Given the description of an element on the screen output the (x, y) to click on. 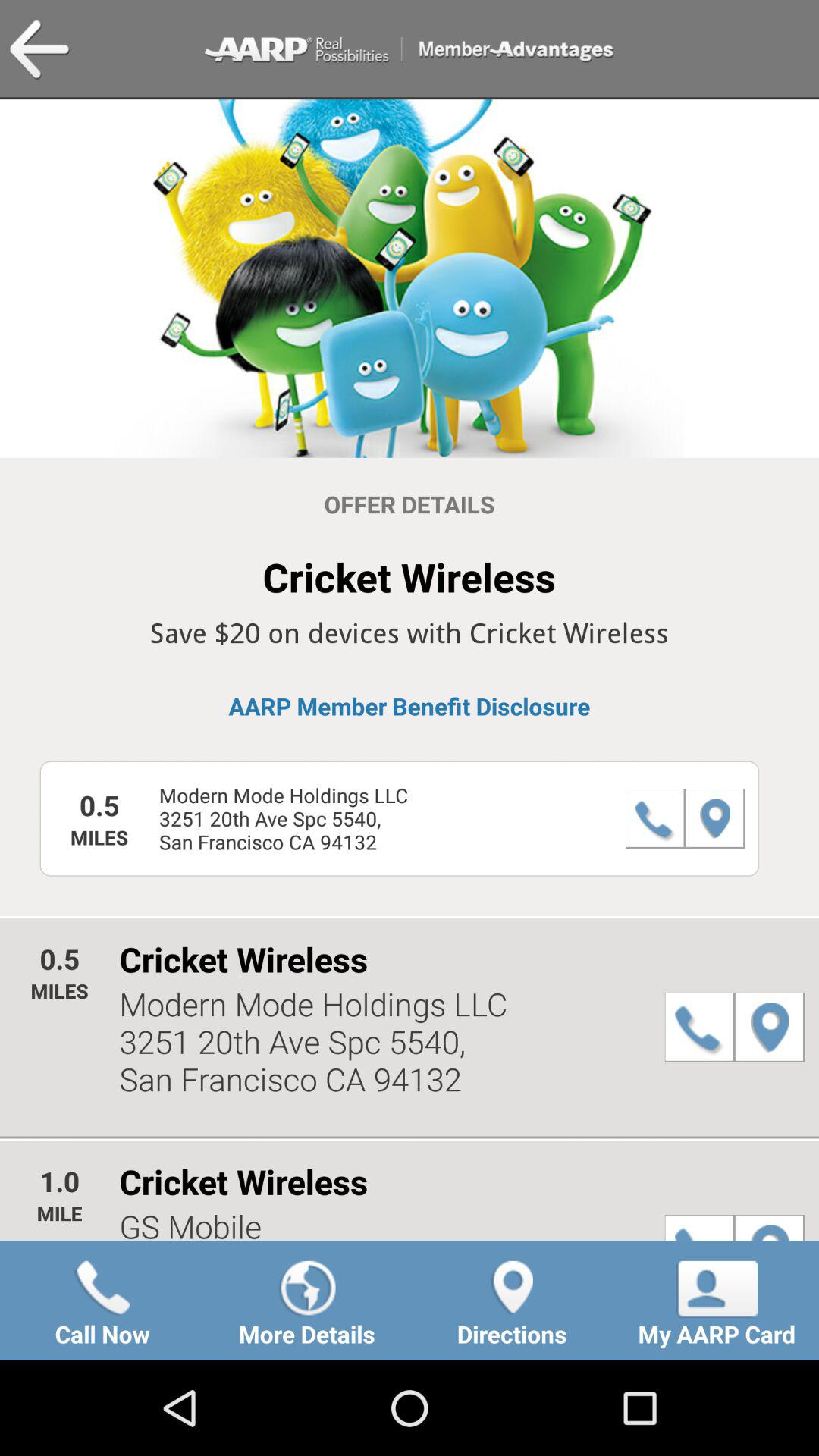
press icon at the top left corner (39, 49)
